Given the description of an element on the screen output the (x, y) to click on. 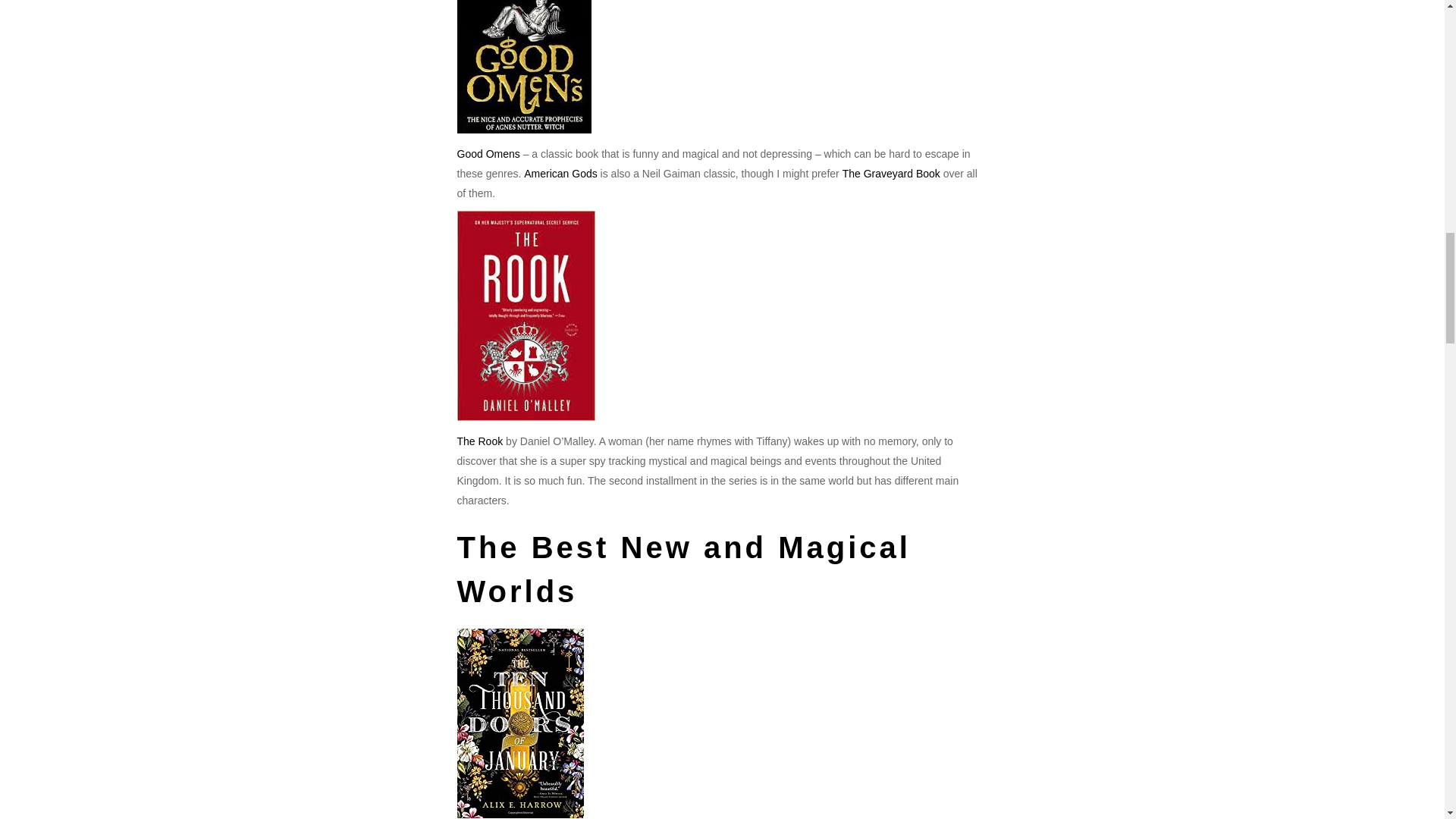
Send (646, 286)
The Graveyard Book (893, 173)
Good Omens (488, 153)
The Rook (479, 440)
American Gods (560, 173)
